Given the description of an element on the screen output the (x, y) to click on. 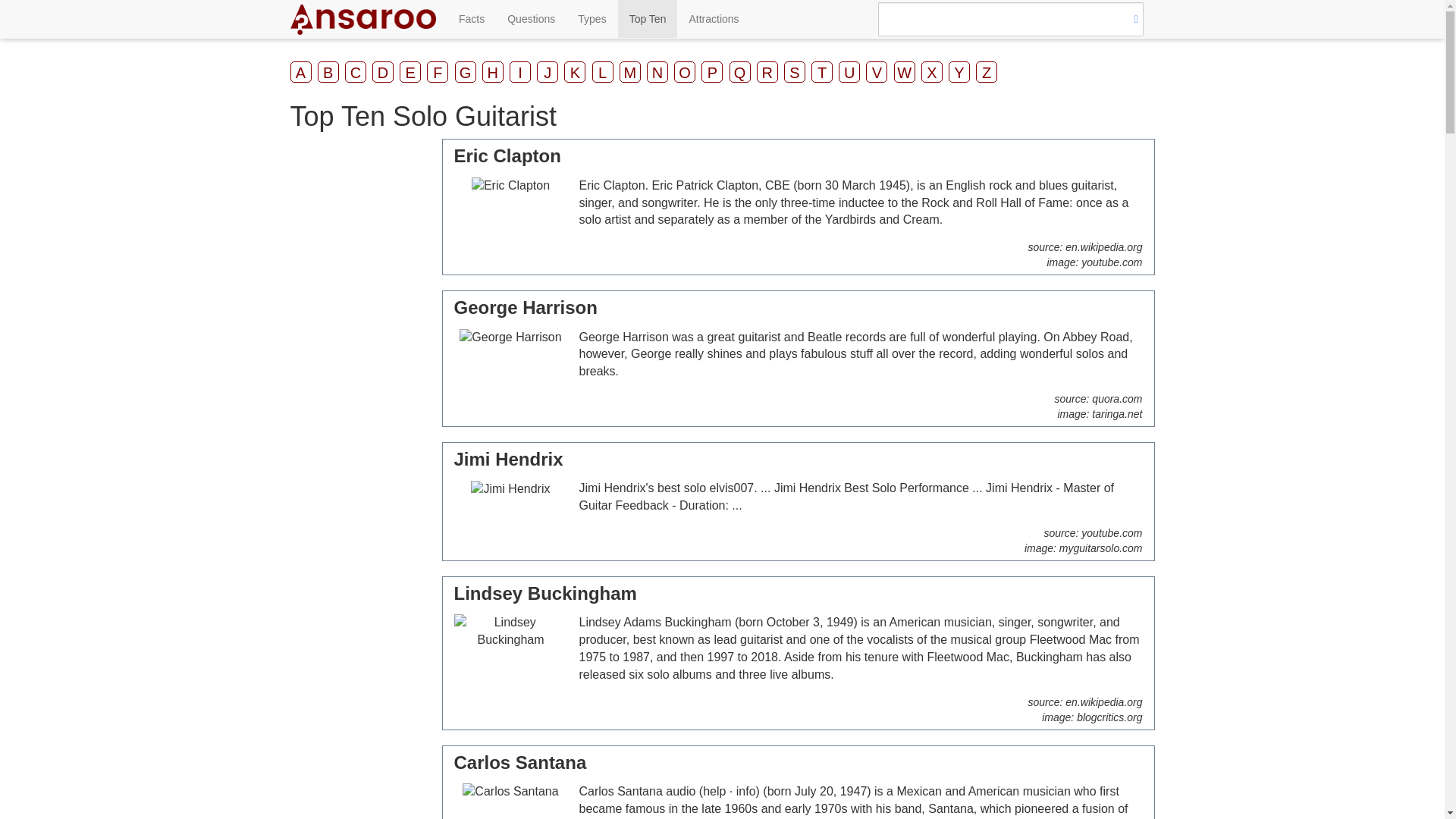
J (547, 71)
L (602, 71)
F (437, 71)
O (684, 71)
en.wikipedia.org (1103, 246)
K (574, 71)
Top Ten (647, 18)
V (876, 71)
youtube.com (1111, 532)
U (849, 71)
C (355, 71)
H (492, 71)
I (520, 71)
Y (959, 71)
Q (740, 71)
